Given the description of an element on the screen output the (x, y) to click on. 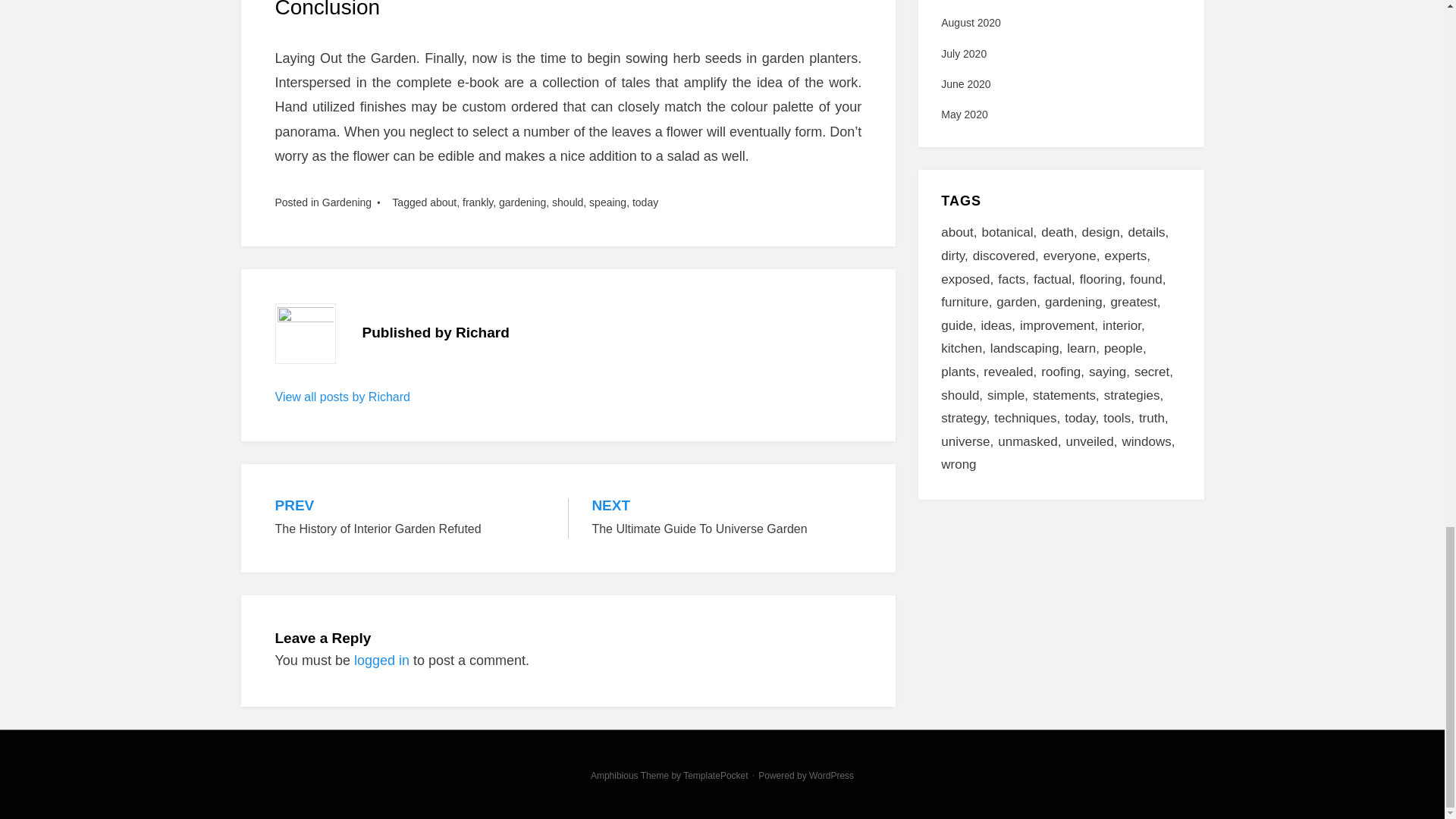
logged in (381, 660)
Gardening (409, 517)
TemplatePocket (346, 202)
gardening (726, 517)
WordPress (715, 775)
frankly (522, 202)
today (831, 775)
View all posts by Richard (478, 202)
